Given the description of an element on the screen output the (x, y) to click on. 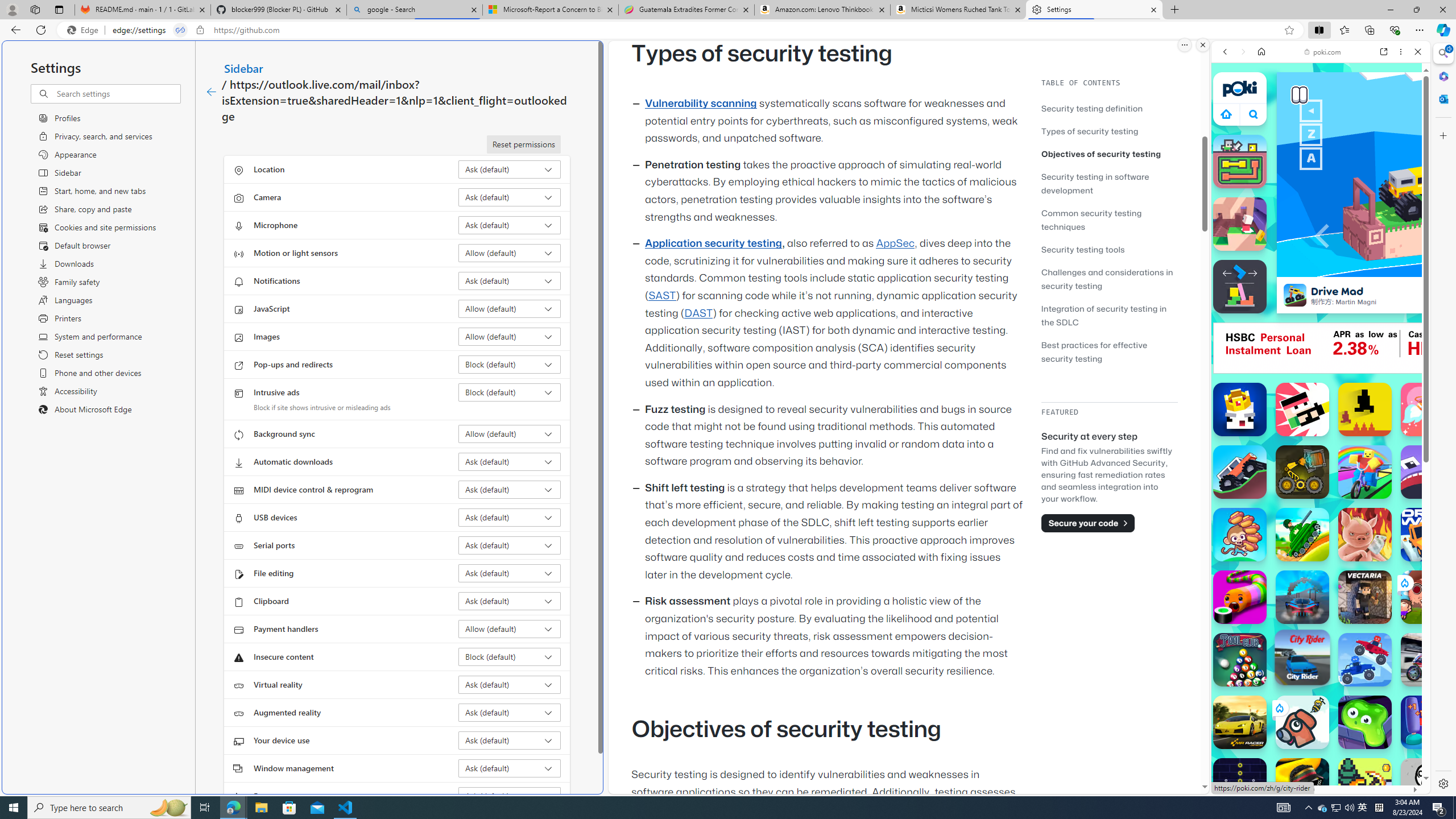
Security testing definition (1109, 108)
Wall of Doom (1239, 223)
Neon War Neon War (1239, 784)
Best practices for effective security testing (1109, 351)
Sushi Party (1239, 597)
Slime Laboratory Slime Laboratory (1364, 722)
Clipboard Ask (default) (509, 601)
Drive Mad (1295, 295)
Background sync Allow (default) (509, 434)
Tabs in split screen (180, 29)
Driftwave (1427, 534)
